Given the description of an element on the screen output the (x, y) to click on. 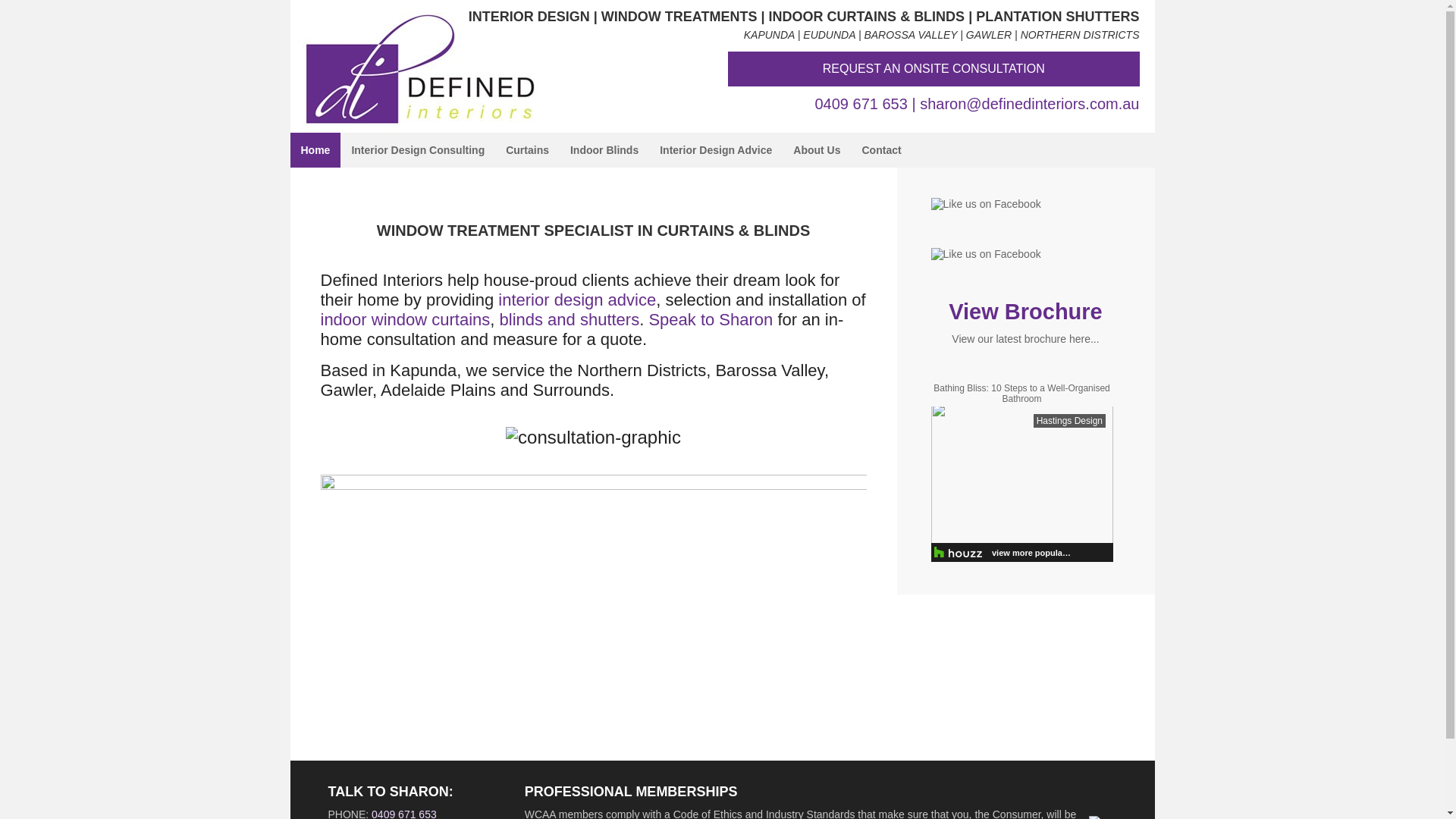
sharon@definedinteriors.com.au Element type: text (1029, 103)
consultation-graphic-new Element type: hover (592, 437)
Indoor Blinds Element type: text (604, 149)
before and after j peg Element type: hover (593, 565)
About Us Element type: text (816, 149)
Contact Element type: text (880, 149)
Interior Design Consulting Element type: text (417, 149)
indoor window curtains Element type: text (404, 319)
blinds and shutters Element type: text (569, 319)
Bathing Bliss: 10 Steps to a Well-Organised Bathroom Element type: text (1021, 393)
Home Element type: text (314, 149)
interior design advice Element type: text (576, 299)
Speak to Sharon Element type: text (710, 319)
View our latest brochure here... Element type: text (1024, 338)
0409 671 653 Element type: text (860, 103)
Curtains Element type: text (527, 149)
Interior Design Advice Element type: text (715, 149)
